Given the description of an element on the screen output the (x, y) to click on. 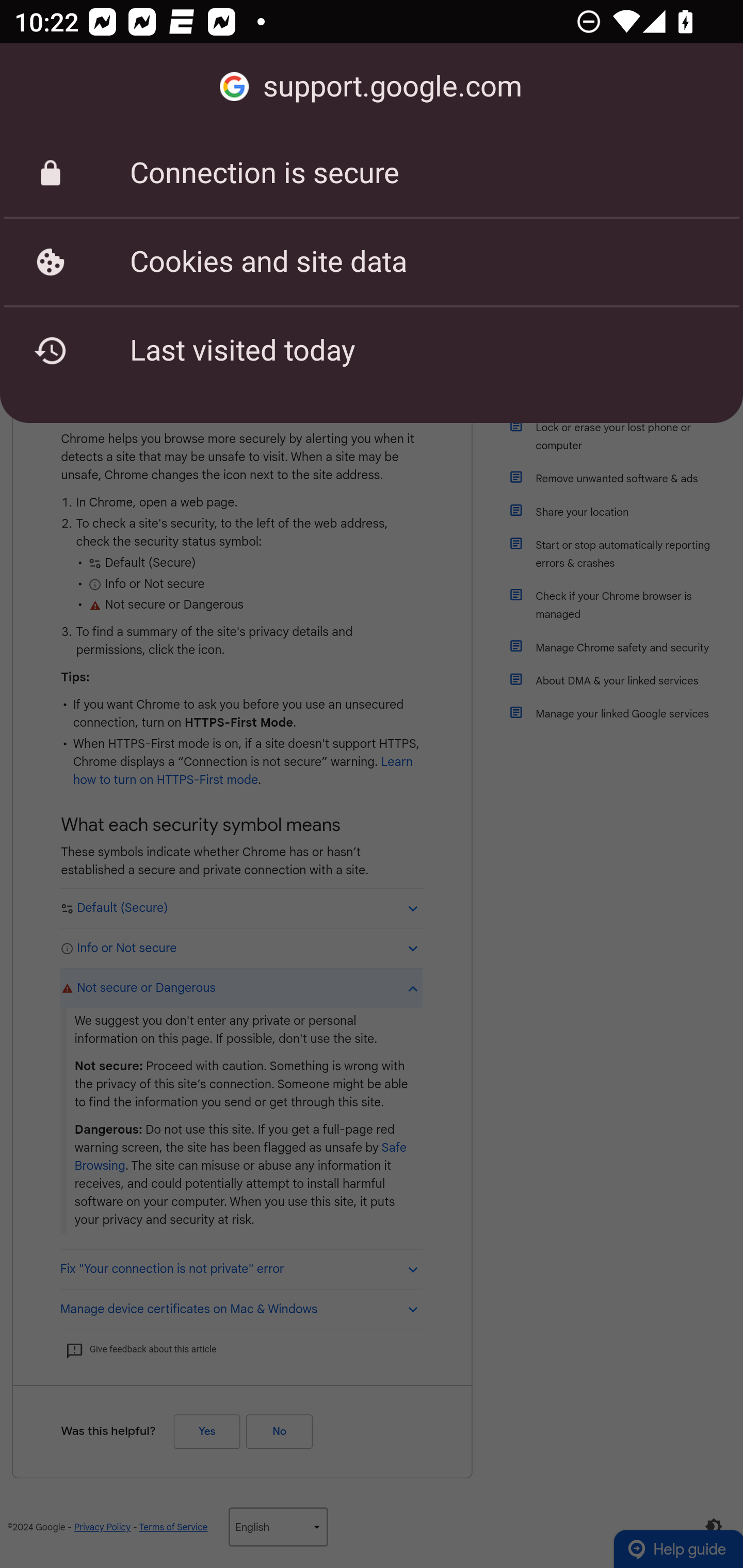
support.google.com (371, 86)
Connection is secure (371, 173)
Cookies and site data (371, 261)
Last visited today (371, 350)
